Given the description of an element on the screen output the (x, y) to click on. 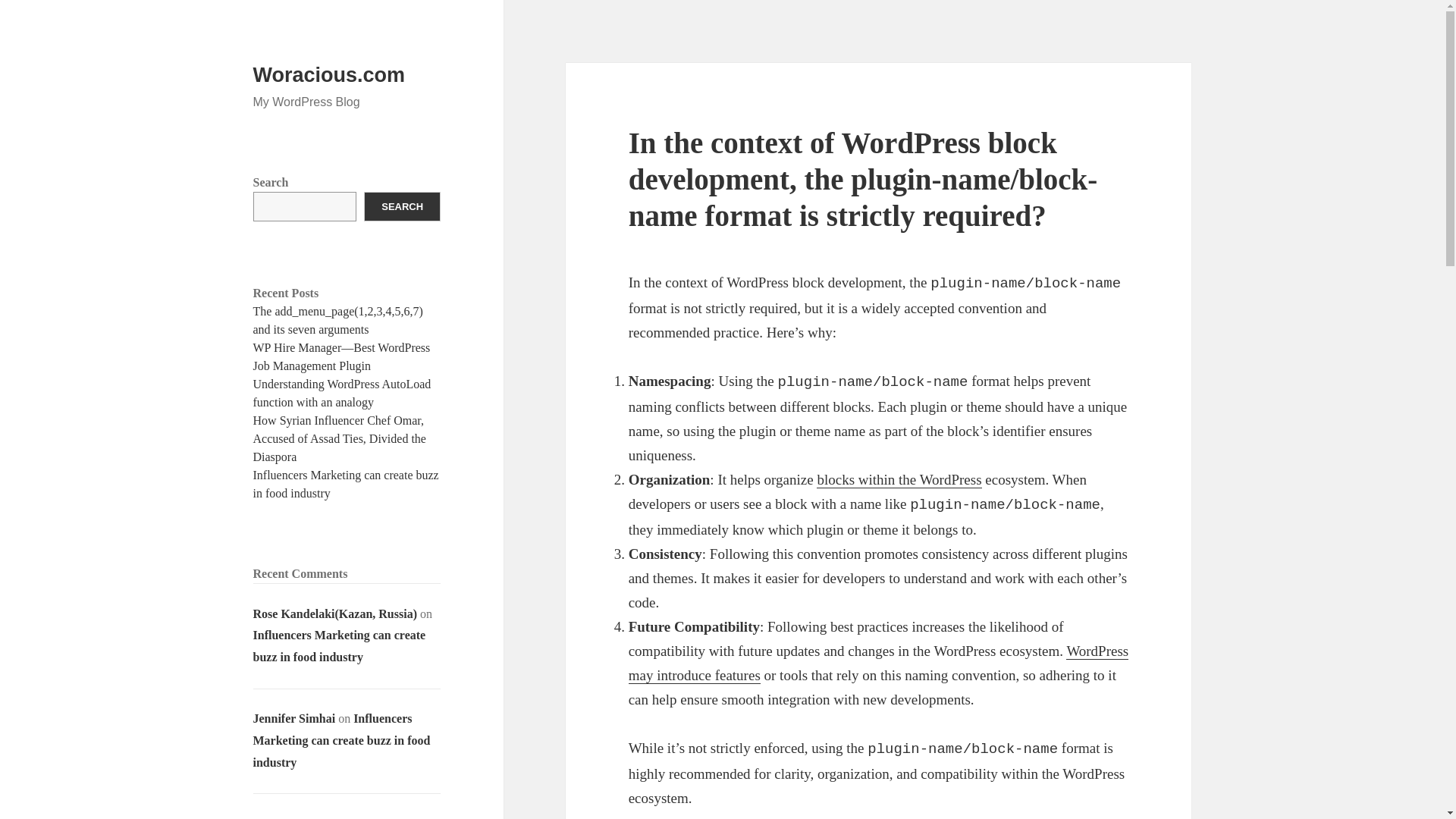
SEARCH (402, 206)
Jennifer Simhai (294, 717)
Influencers Marketing can create buzz in food industry (341, 740)
Understanding WordPress AutoLoad function with an analogy (341, 392)
Woracious.com (329, 74)
Influencers Marketing can create buzz in food industry (339, 645)
Influencers Marketing can create buzz in food industry (346, 483)
